Given the description of an element on the screen output the (x, y) to click on. 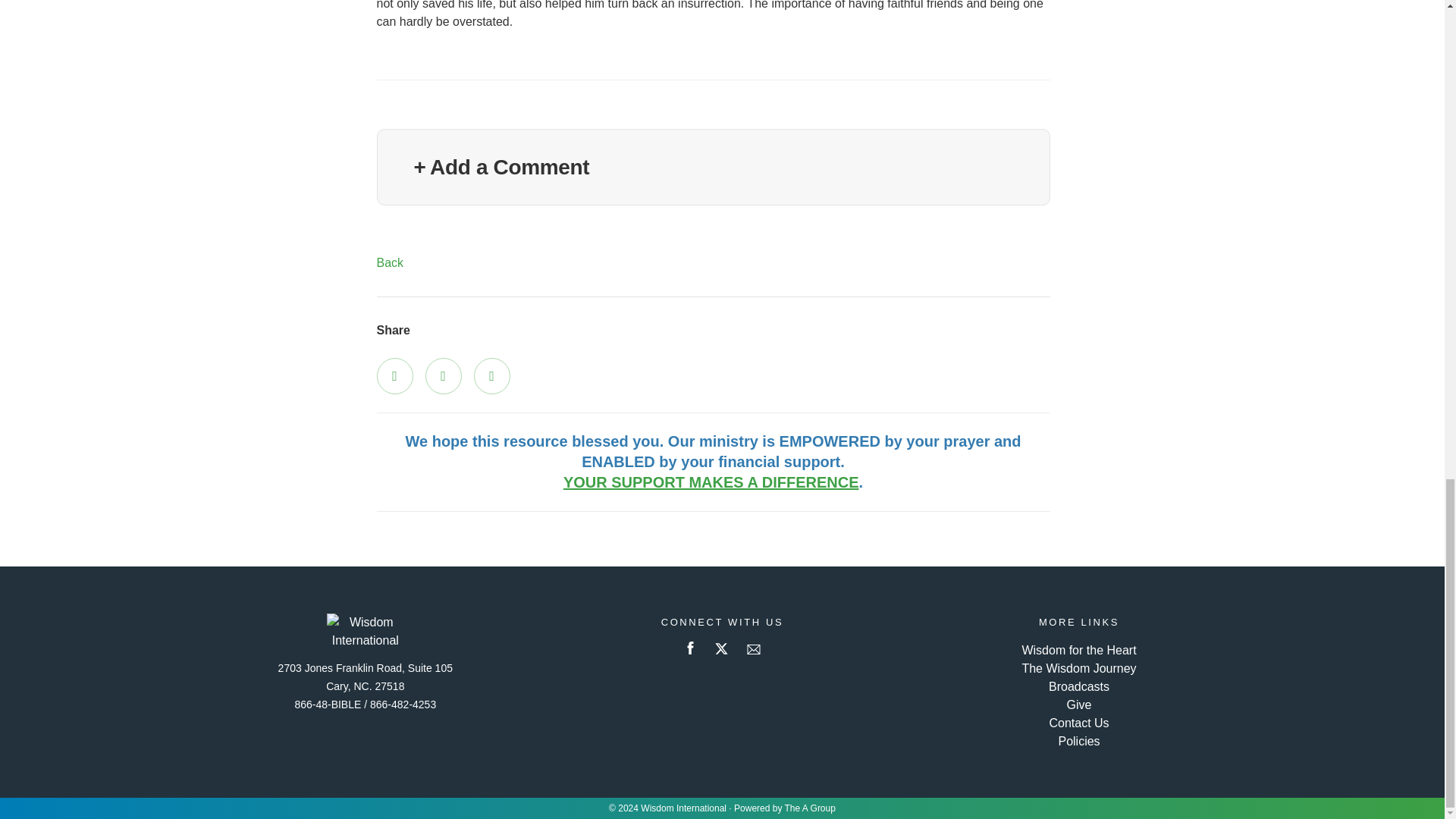
Wisdom for the Heart (1078, 649)
Facebook (393, 375)
Twitter (443, 375)
The Wisdom Journey (1078, 667)
Invite a Friend (491, 375)
Back (389, 262)
Policies (1078, 740)
Contact Us (1078, 722)
Powered by The A Group (784, 808)
Broadcasts (1078, 686)
Give (1079, 704)
YOUR SUPPORT MAKES A DIFFERENCE (711, 482)
